Given the description of an element on the screen output the (x, y) to click on. 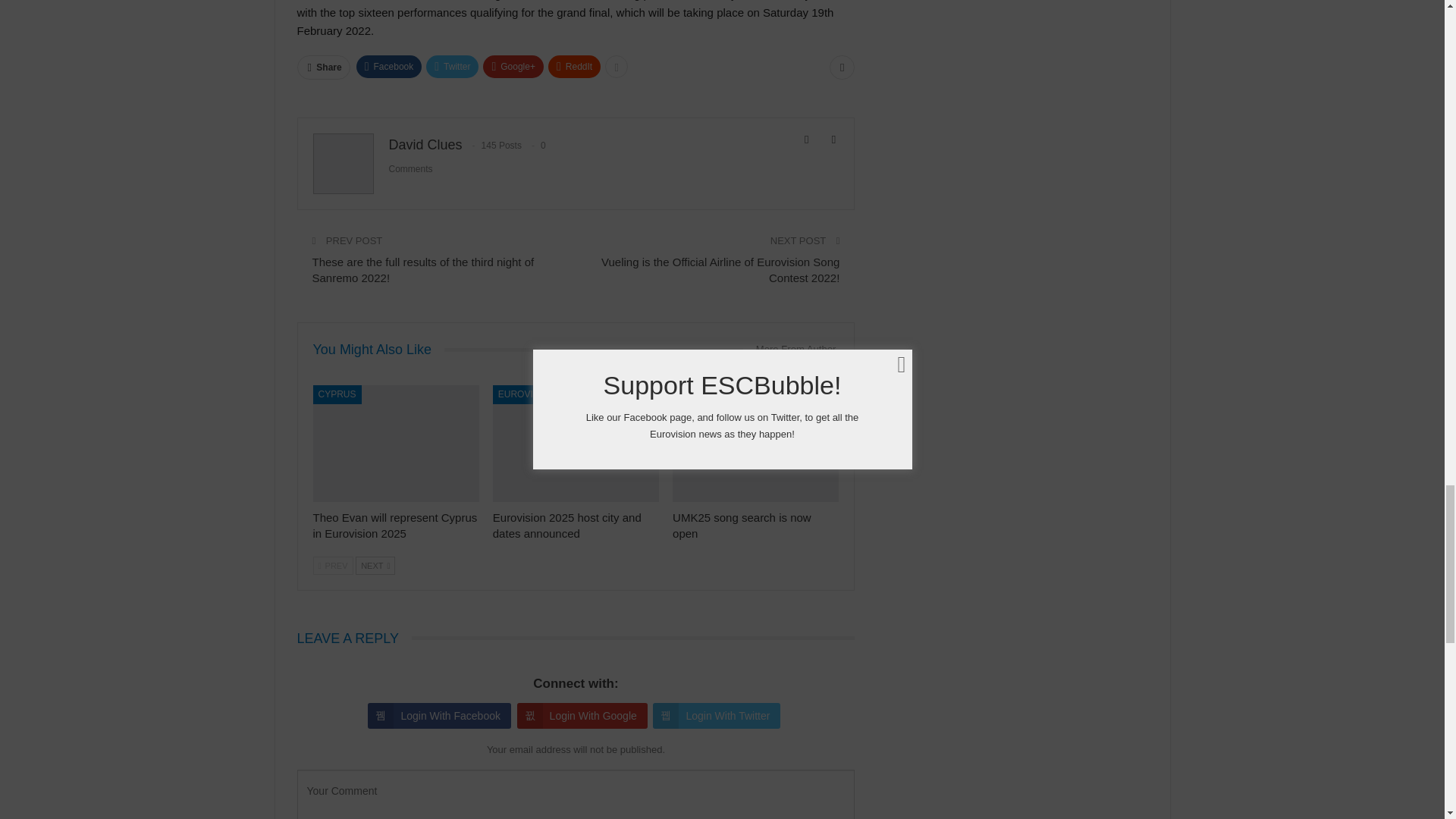
Theo Evan will represent Cyprus in Eurovision 2025 (396, 442)
Theo Evan will represent Cyprus in Eurovision 2025 (395, 525)
Eurovision 2025 host city and dates announced (576, 442)
Eurovision 2025 host city and dates announced (567, 525)
UMK25 song search is now open (755, 442)
UMK25 song search is now open (741, 525)
